Given the description of an element on the screen output the (x, y) to click on. 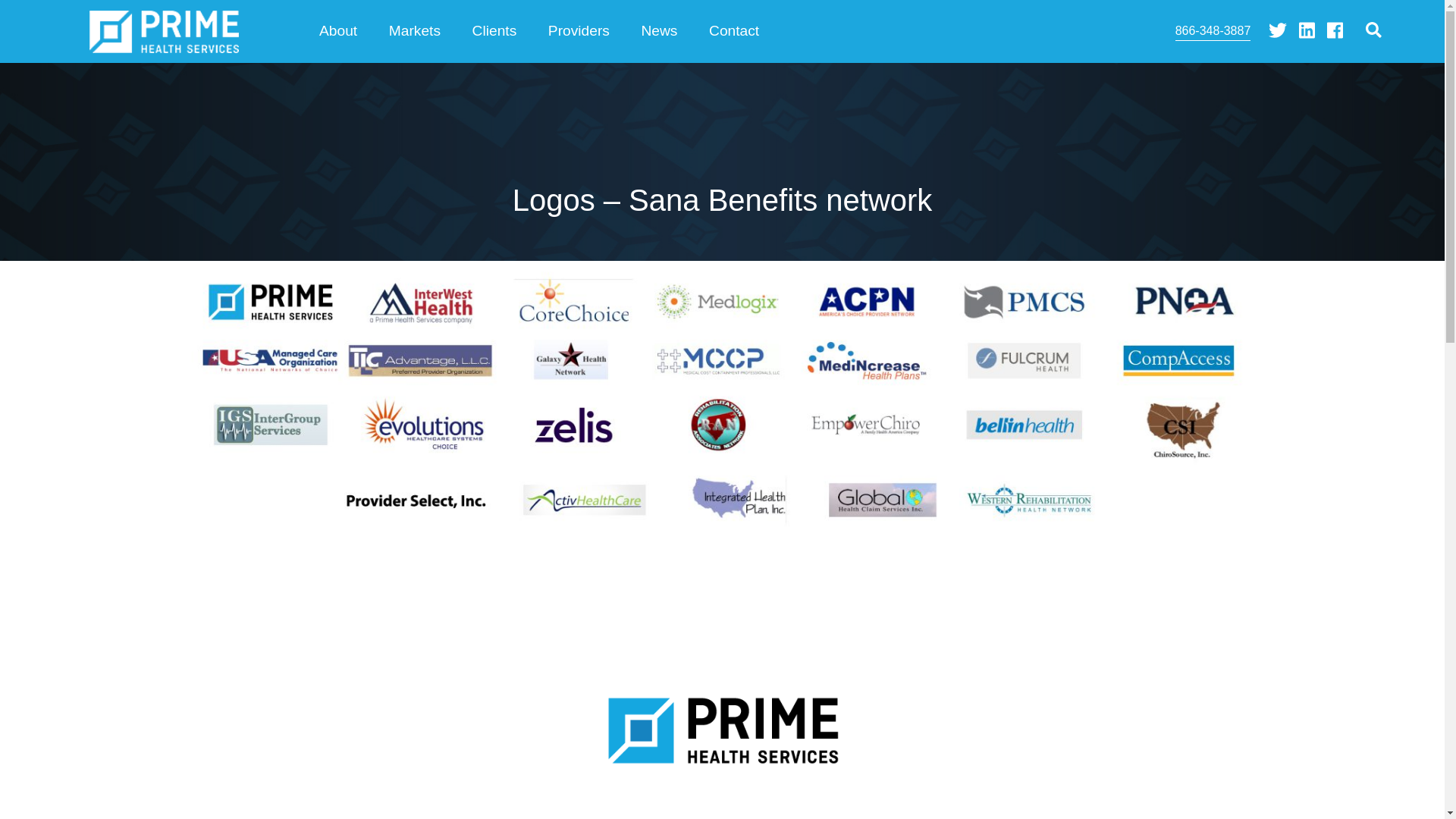
866-348-3887 (1212, 31)
Clients (494, 31)
News (660, 31)
Contact (733, 31)
About (337, 31)
Providers (579, 31)
Markets (414, 31)
